Given the description of an element on the screen output the (x, y) to click on. 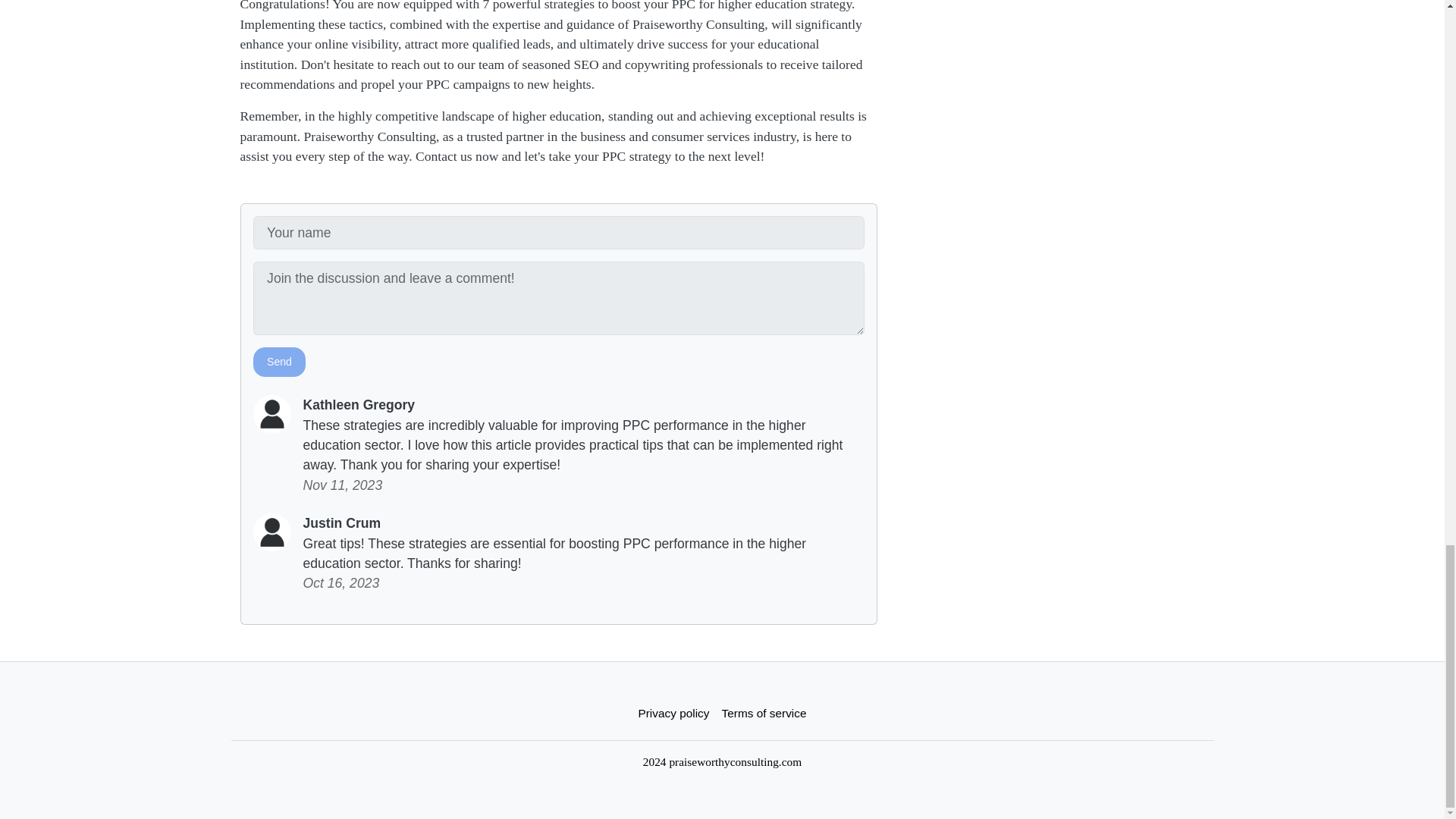
Send (279, 361)
Privacy policy (672, 713)
Terms of service (764, 713)
Send (279, 361)
